Given the description of an element on the screen output the (x, y) to click on. 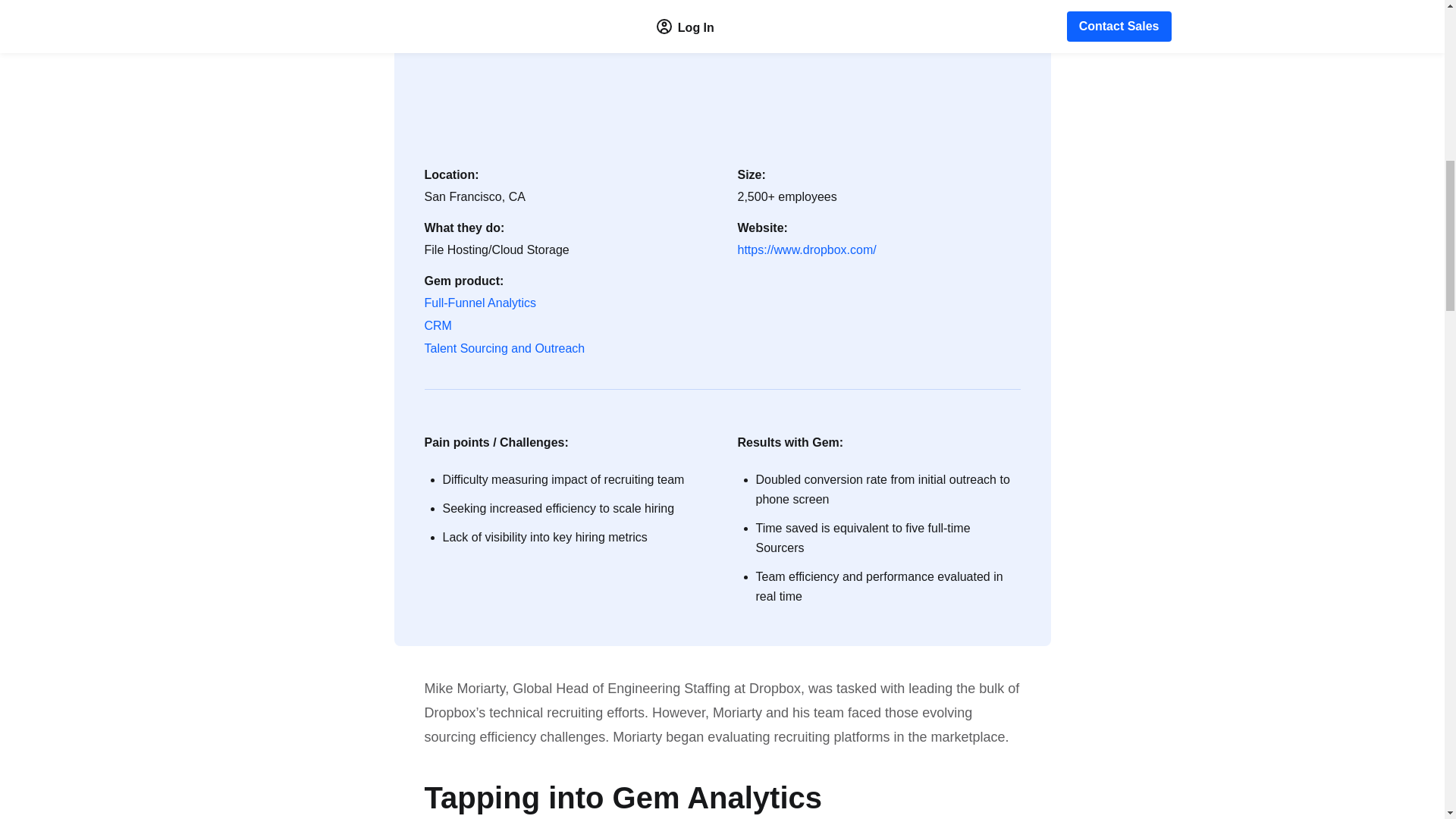
Talent Sourcing and Outreach (505, 348)
Full-Funnel Analytics (481, 302)
CRM (438, 325)
